Given the description of an element on the screen output the (x, y) to click on. 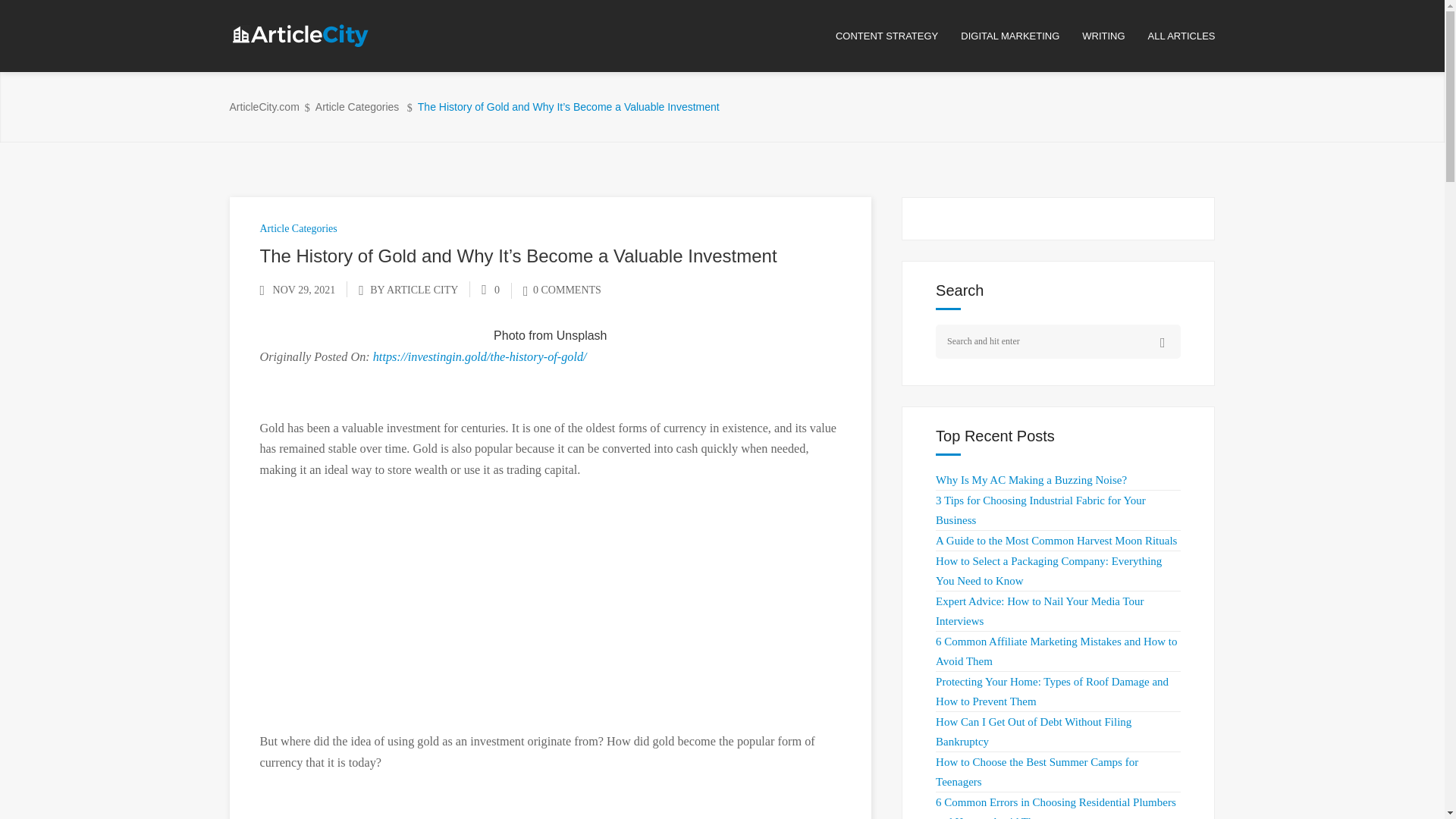
Article Categories (356, 107)
BY ARTICLE CITY (413, 289)
3rd party ad content (549, 606)
DIGITAL MARKETING (1020, 36)
Article Categories (297, 228)
Photo (509, 335)
0 (490, 289)
Like this (490, 289)
ALL ARTICLES (1181, 36)
0 COMMENTS (561, 289)
